Given the description of an element on the screen output the (x, y) to click on. 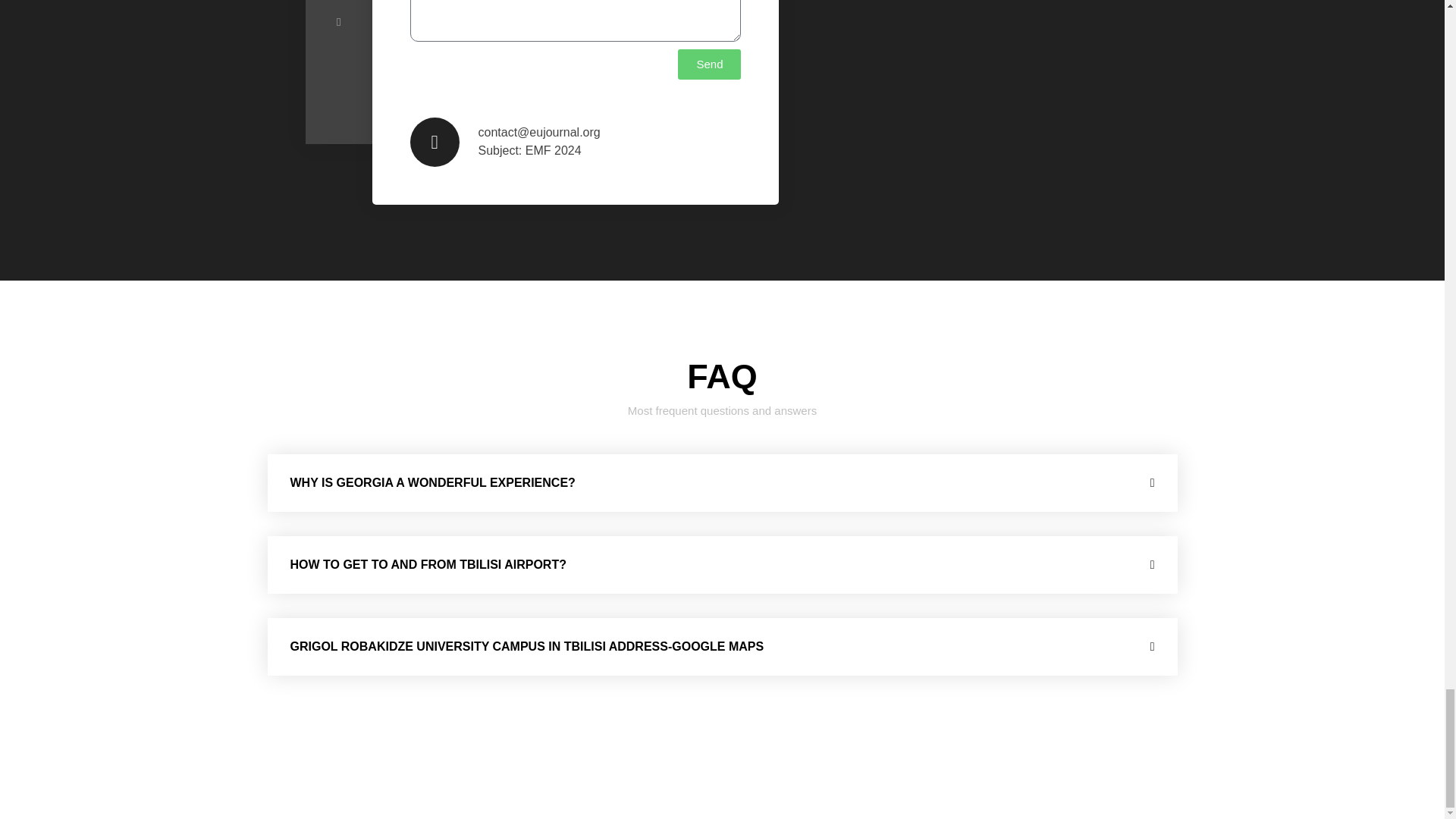
Organizer: European Scientific Institute, ESI (721, 772)
WHY IS GEORGIA A WONDERFUL EXPERIENCE? (432, 481)
Send (709, 64)
HOW TO GET TO AND FROM TBILISI AIRPORT? (427, 563)
